Given the description of an element on the screen output the (x, y) to click on. 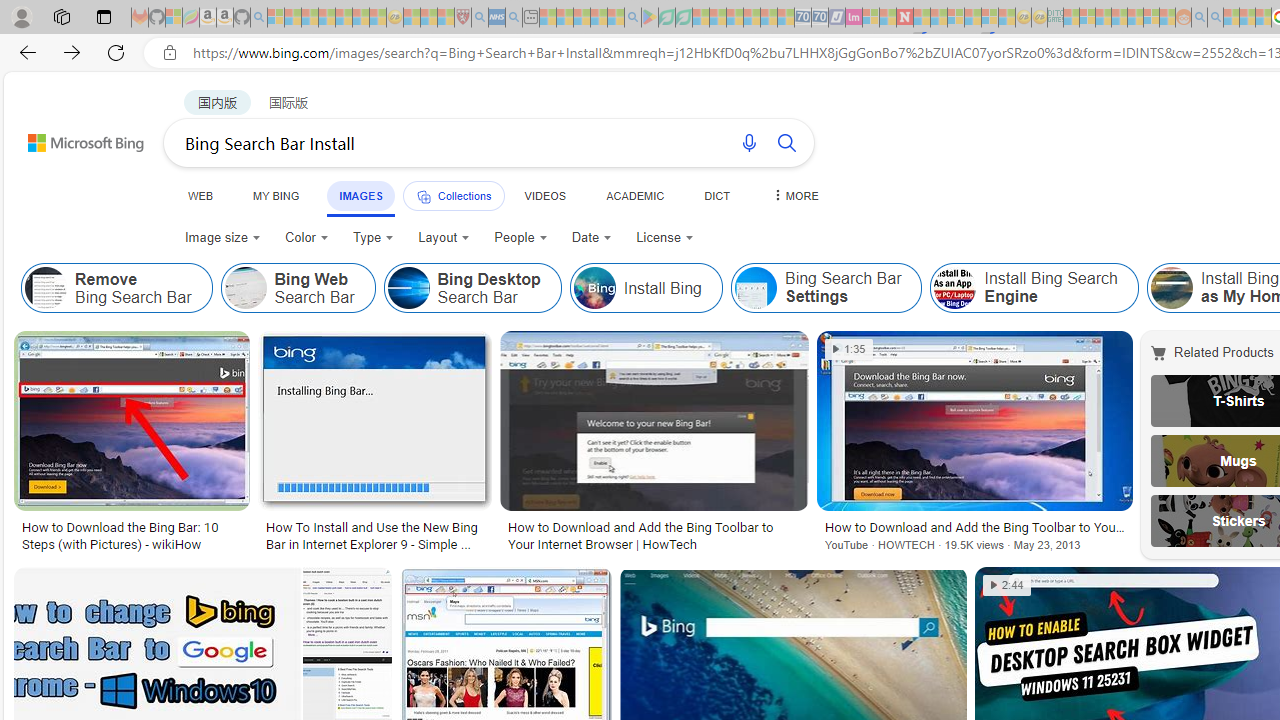
ACADEMIC (635, 195)
ACADEMIC (635, 195)
Class: item col (1034, 287)
People (520, 237)
License (664, 237)
Dropdown Menu (793, 195)
